Given the description of an element on the screen output the (x, y) to click on. 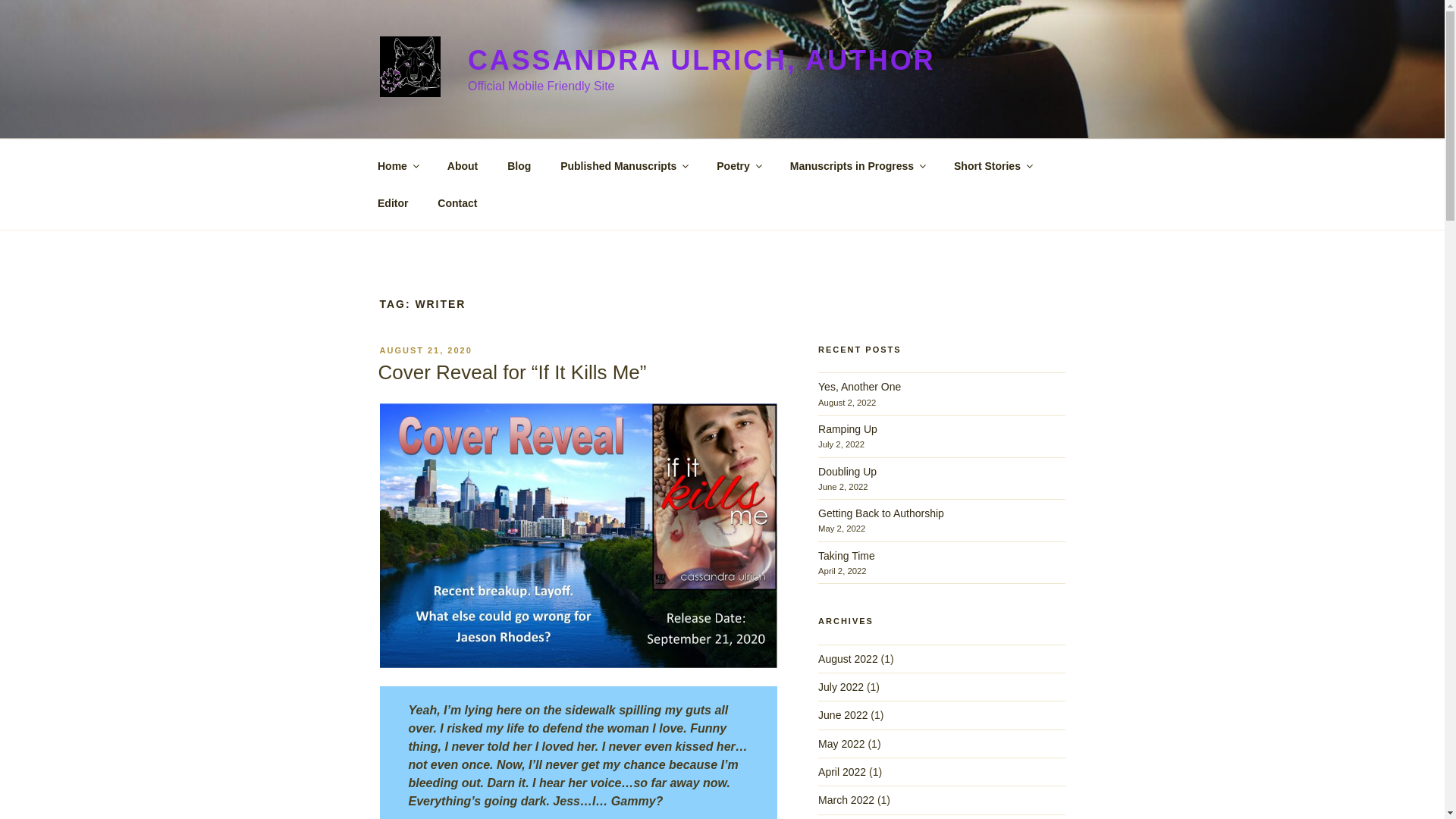
About (461, 165)
Short Stories (992, 165)
Published Manuscripts (623, 165)
Poetry (738, 165)
Editor (392, 203)
Contact (457, 203)
CASSANDRA ULRICH, AUTHOR (700, 60)
Manuscripts in Progress (856, 165)
Blog (519, 165)
Home (397, 165)
AUGUST 21, 2020 (424, 349)
